Given the description of an element on the screen output the (x, y) to click on. 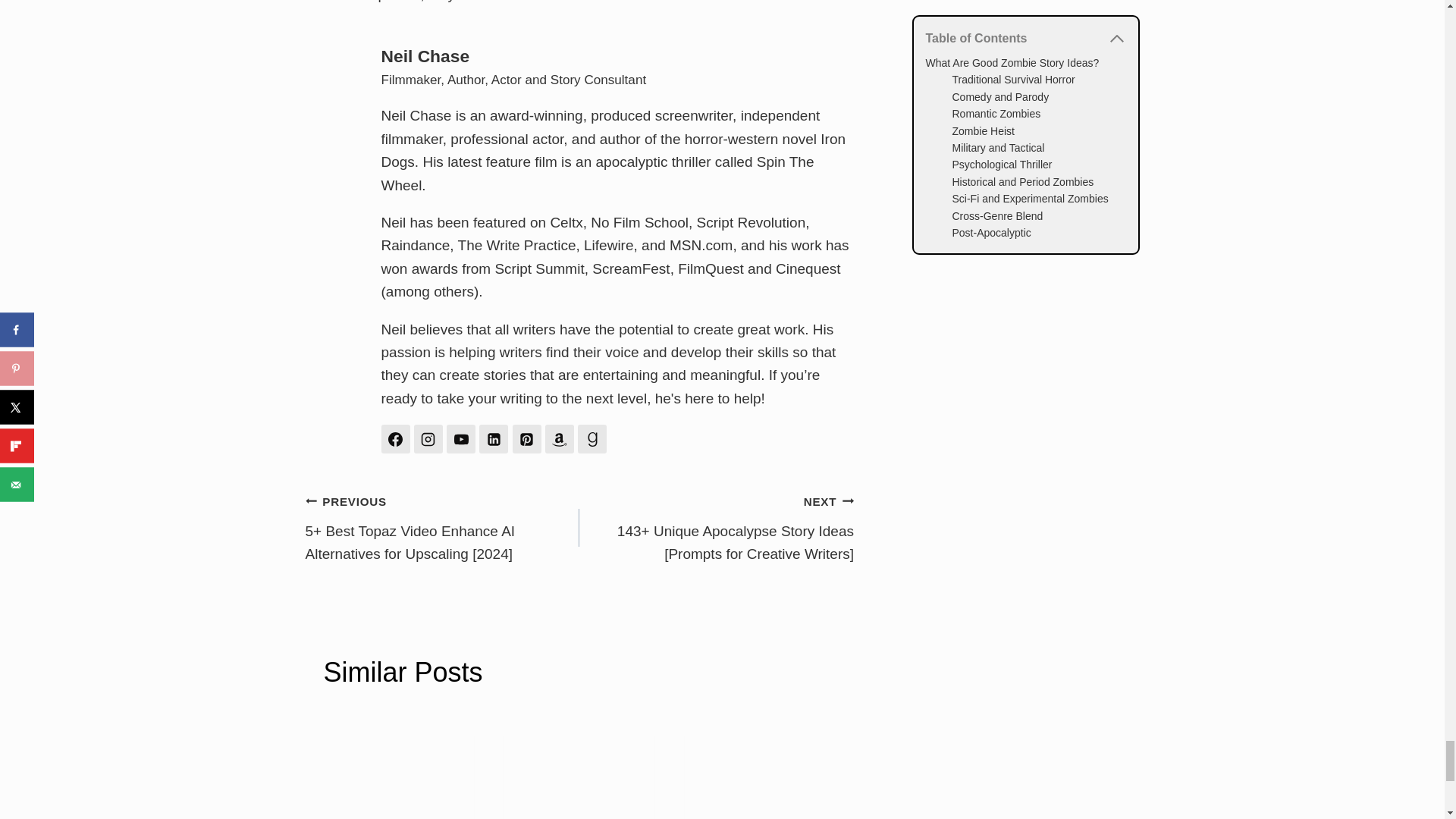
Follow Neil Chase on Goodreads (592, 439)
Follow Neil Chase on Facebook (394, 439)
Follow Neil Chase on Youtube (461, 439)
Follow Neil Chase on Pinterest (526, 439)
Follow Neil Chase on Linkedin (493, 439)
Posts by Neil Chase (424, 55)
Follow Neil Chase on Instagram (427, 439)
Follow Neil Chase on Amazon (558, 439)
